Given the description of an element on the screen output the (x, y) to click on. 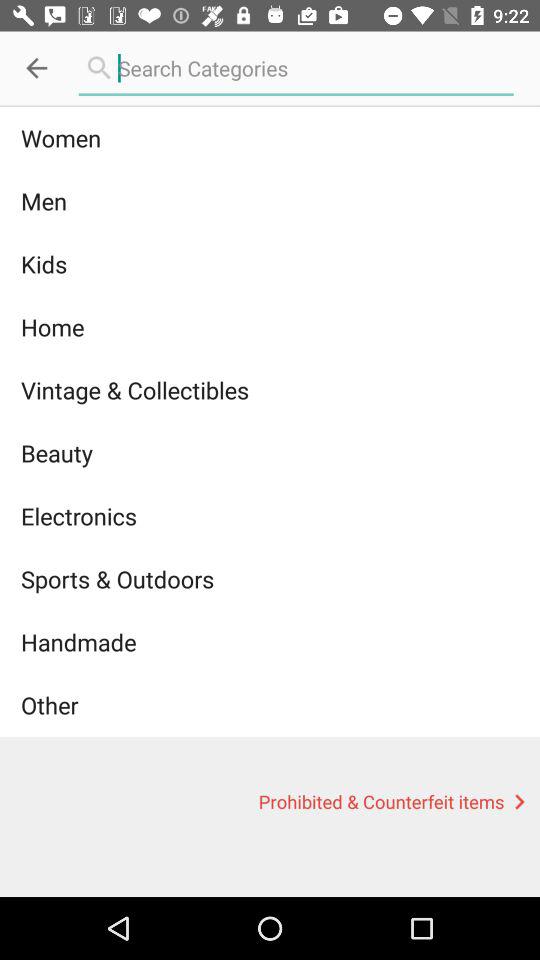
search option (296, 68)
